Given the description of an element on the screen output the (x, y) to click on. 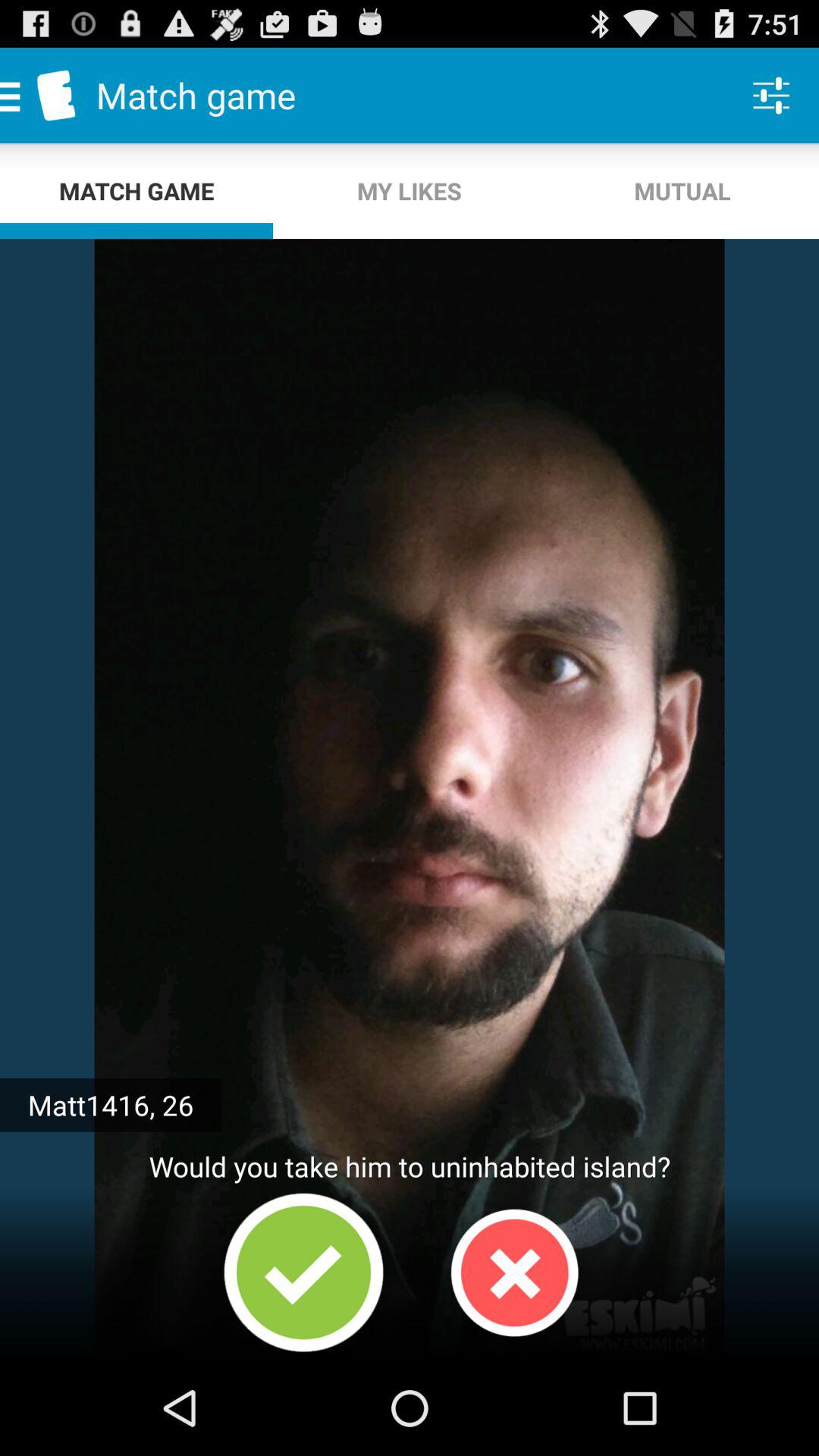
press the icon below match game item (409, 190)
